Given the description of an element on the screen output the (x, y) to click on. 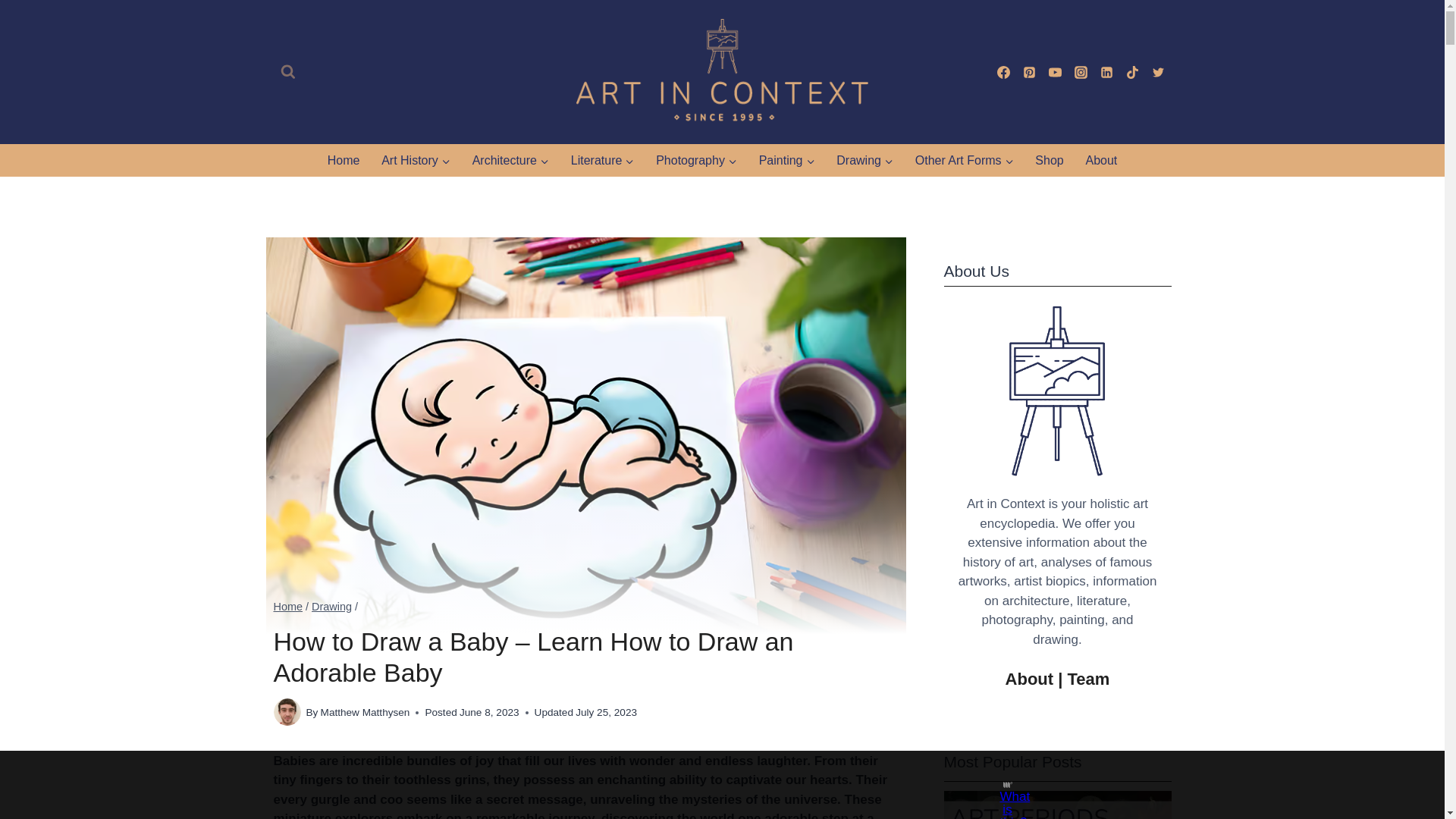
Home (342, 160)
Architecture (510, 160)
Painting (786, 160)
Photography (696, 160)
Literature (602, 160)
Art History (416, 160)
3rd party ad content (708, 785)
